Given the description of an element on the screen output the (x, y) to click on. 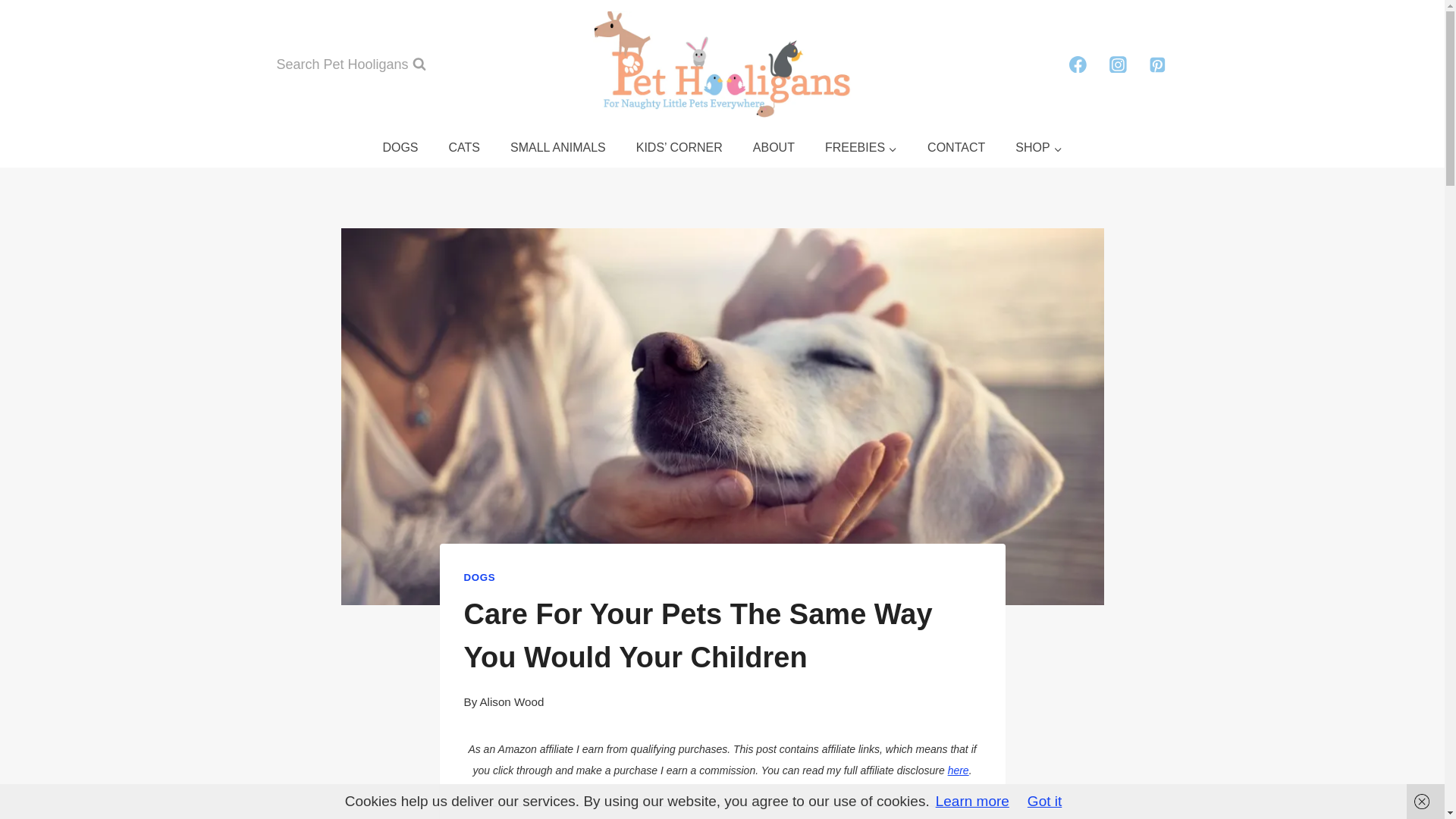
ABOUT (773, 147)
Search Pet Hooligans (350, 64)
here (958, 770)
DOGS (480, 577)
SMALL ANIMALS (558, 147)
CONTACT (956, 147)
FREEBIES (860, 147)
SHOP (1038, 147)
DOGS (399, 147)
CATS (464, 147)
